Given the description of an element on the screen output the (x, y) to click on. 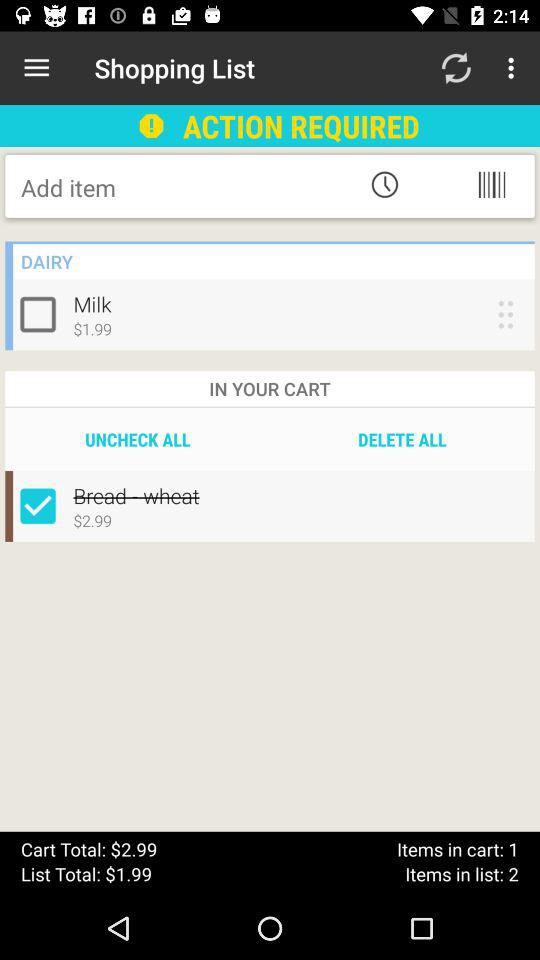
item active in my cart (41, 505)
